Given the description of an element on the screen output the (x, y) to click on. 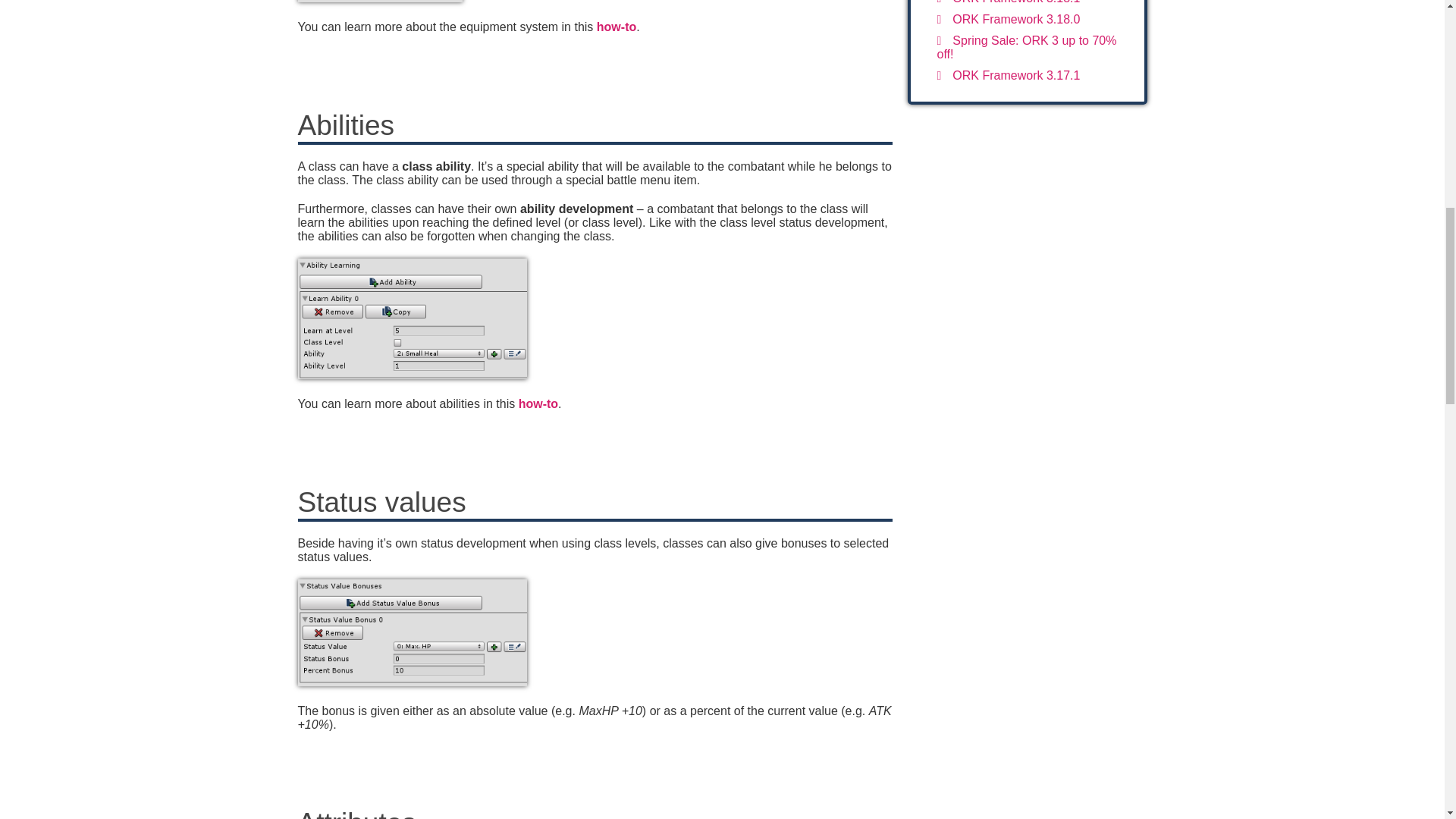
Abilities (537, 403)
how-to (616, 26)
Equipment (616, 26)
how-to (537, 403)
